Given the description of an element on the screen output the (x, y) to click on. 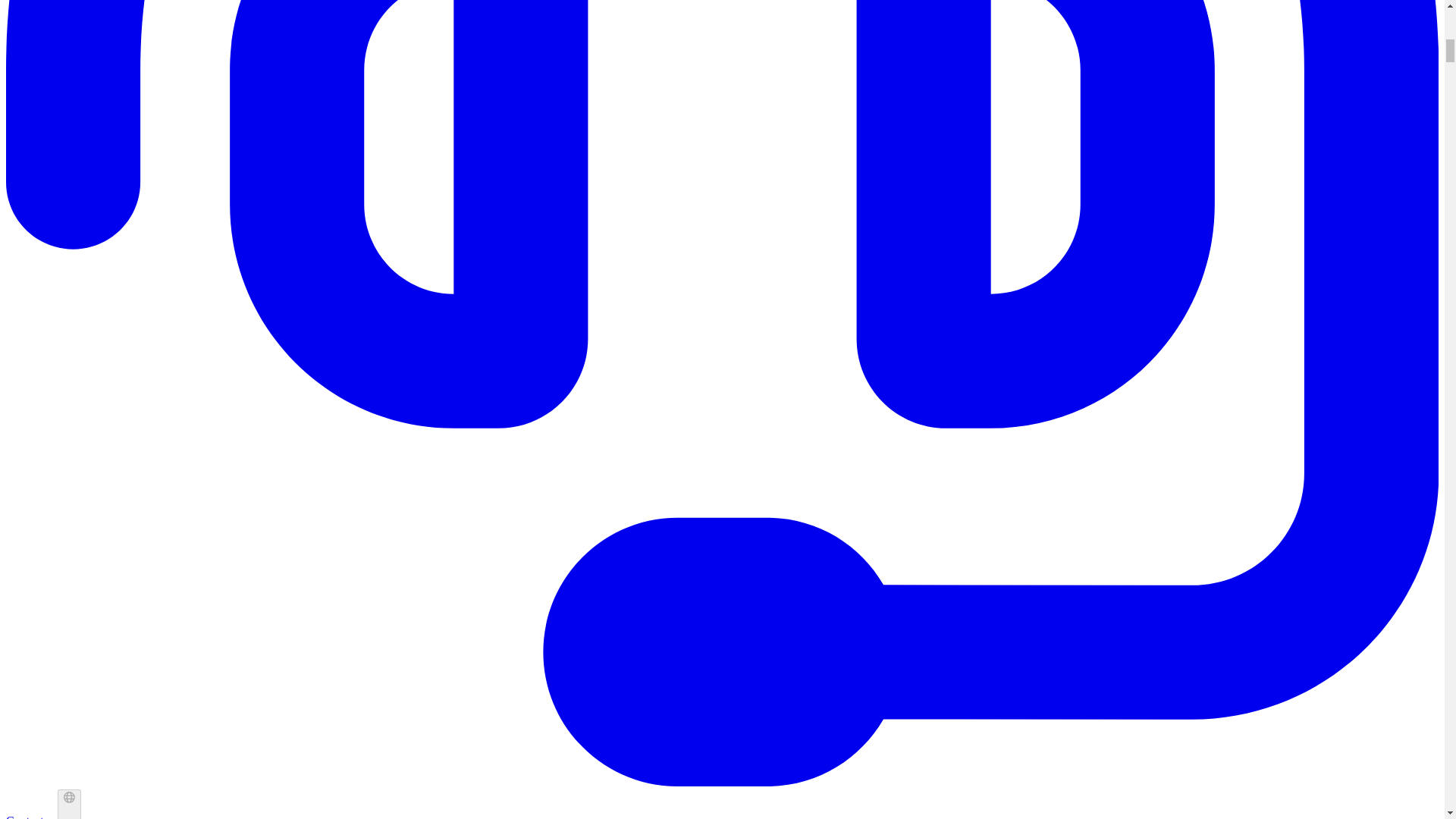
en (69, 804)
